Given the description of an element on the screen output the (x, y) to click on. 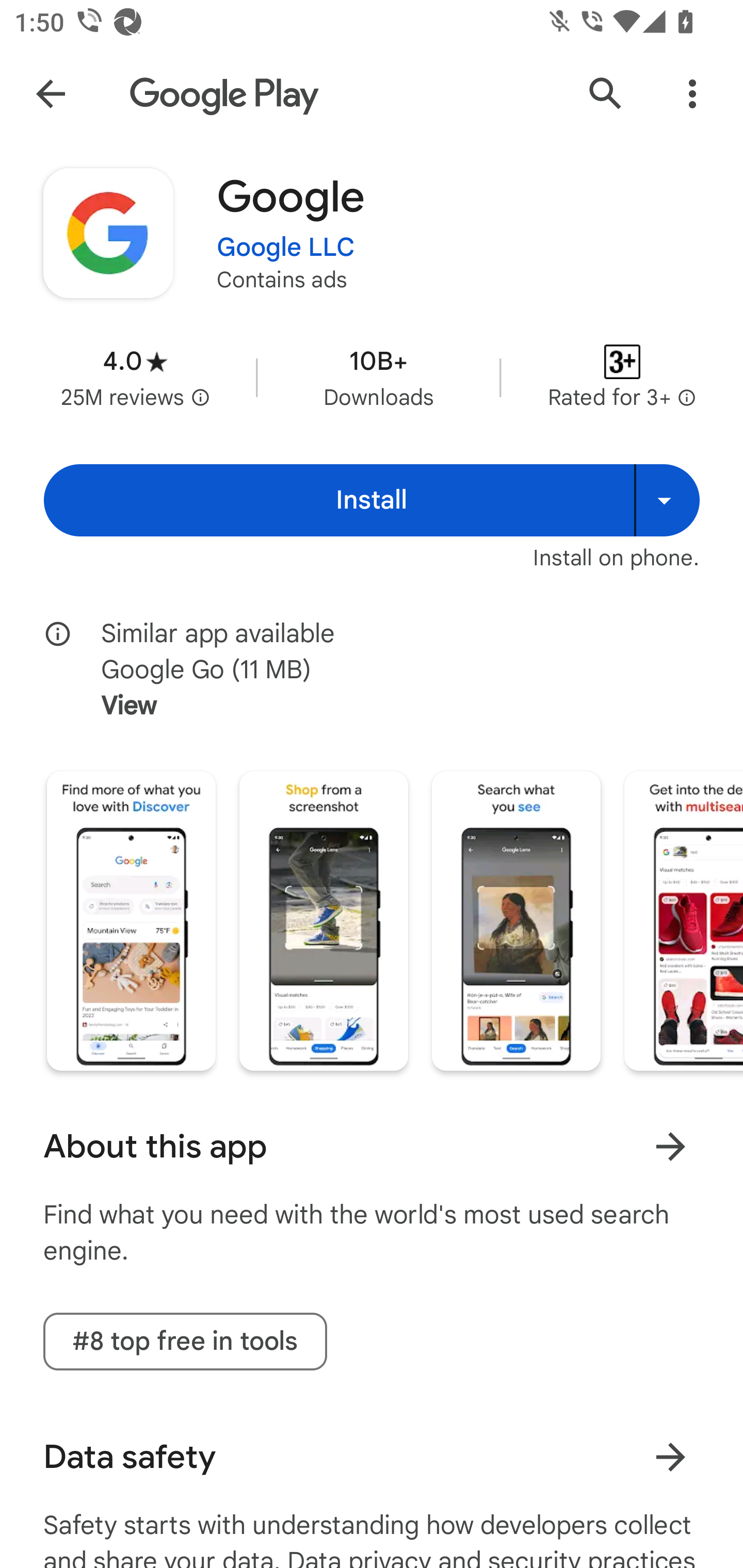
Navigate up (50, 93)
Search Google Play (605, 93)
More Options (692, 93)
Google LLC (285, 247)
Average rating 4.0 stars in 25 million reviews (135, 377)
Content rating Rated for 3+ (622, 377)
Install Install Install on more devices (371, 500)
Install on more devices (667, 500)
Similar app available
Google Go (11 MB)
View (385, 670)
Screenshot "1" of "5" (130, 920)
Screenshot "2" of "5" (323, 920)
Screenshot "3" of "5" (515, 920)
Screenshot "4" of "5" (683, 920)
About this app Learn more About this app (371, 1146)
Learn more About this app (670, 1146)
#8 top free in tools tag (184, 1341)
Data safety Learn more about data safety (371, 1457)
Learn more about data safety (670, 1457)
